Given the description of an element on the screen output the (x, y) to click on. 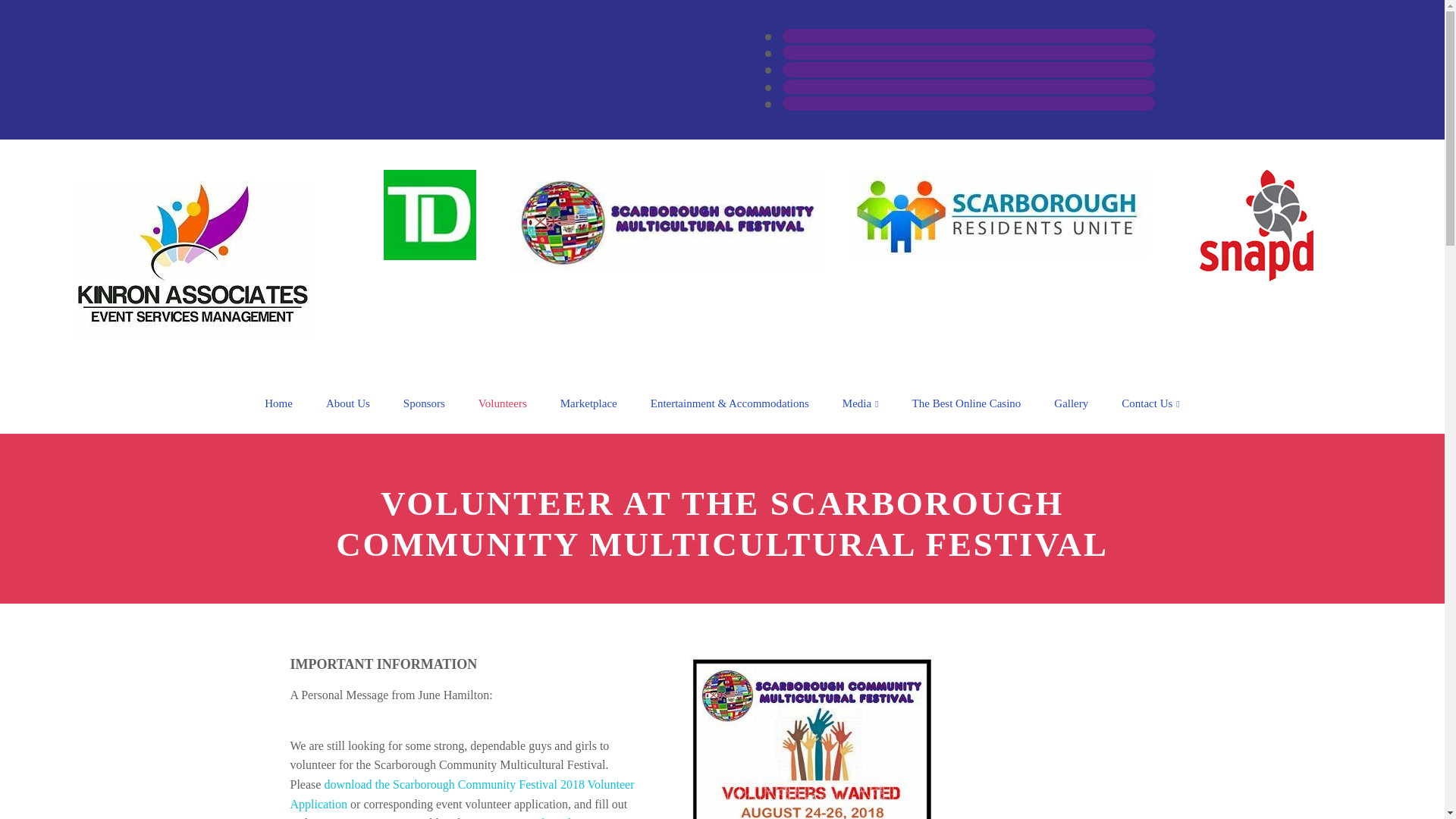
Gallery (1071, 403)
Sponsors (424, 403)
Volunteers (502, 403)
Marketplace (587, 403)
The Best Online Casino (966, 403)
Contact Us (1149, 403)
Media (860, 403)
Home (277, 403)
About Us (348, 403)
